Given the description of an element on the screen output the (x, y) to click on. 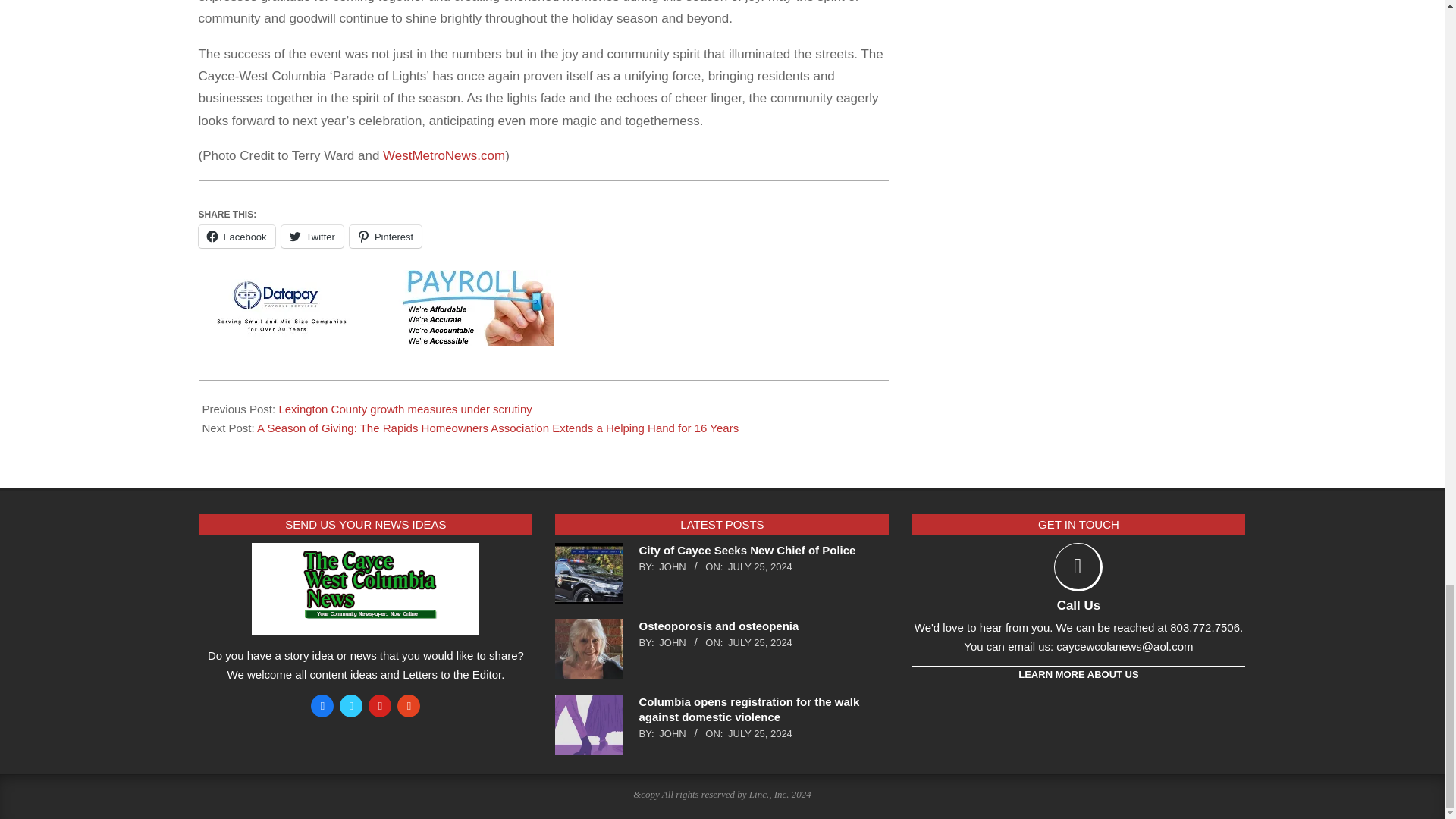
Lexington County growth measures under scrutiny (404, 408)
Click to share on Facebook (236, 236)
Thursday, July 25, 2024, 10:30 am (760, 733)
Posts by John (672, 642)
Pinterest (385, 236)
WestMetroNews.com (443, 155)
Thursday, July 25, 2024, 6:13 pm (760, 566)
Click to share on Pinterest (385, 236)
Posts by John (672, 733)
Facebook (236, 236)
Click to share on Twitter (312, 236)
Posts by John (672, 566)
Twitter (312, 236)
Thursday, July 25, 2024, 1:59 pm (760, 642)
